Given the description of an element on the screen output the (x, y) to click on. 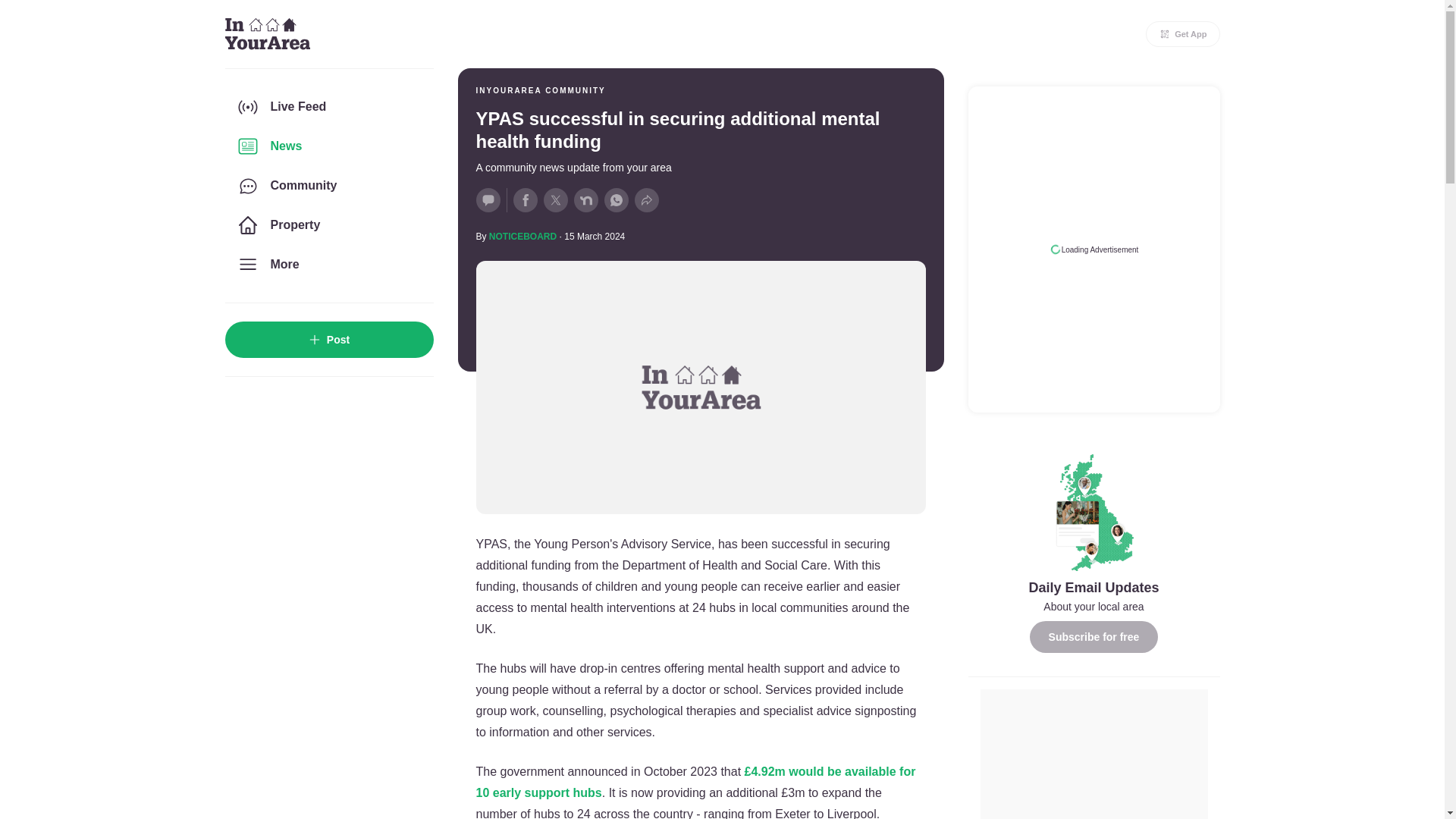
Community (328, 185)
Get App (1182, 33)
Get App (1182, 33)
Share to X (555, 200)
Live Feed (328, 106)
Post (328, 339)
Share to ... (645, 200)
News (328, 146)
INYOURAREA COMMUNITY (540, 90)
Property (328, 224)
Share to Facebook (524, 200)
Social Button (488, 200)
Share to Whatsapp (615, 200)
Share to Nextdoor (584, 200)
